Given the description of an element on the screen output the (x, y) to click on. 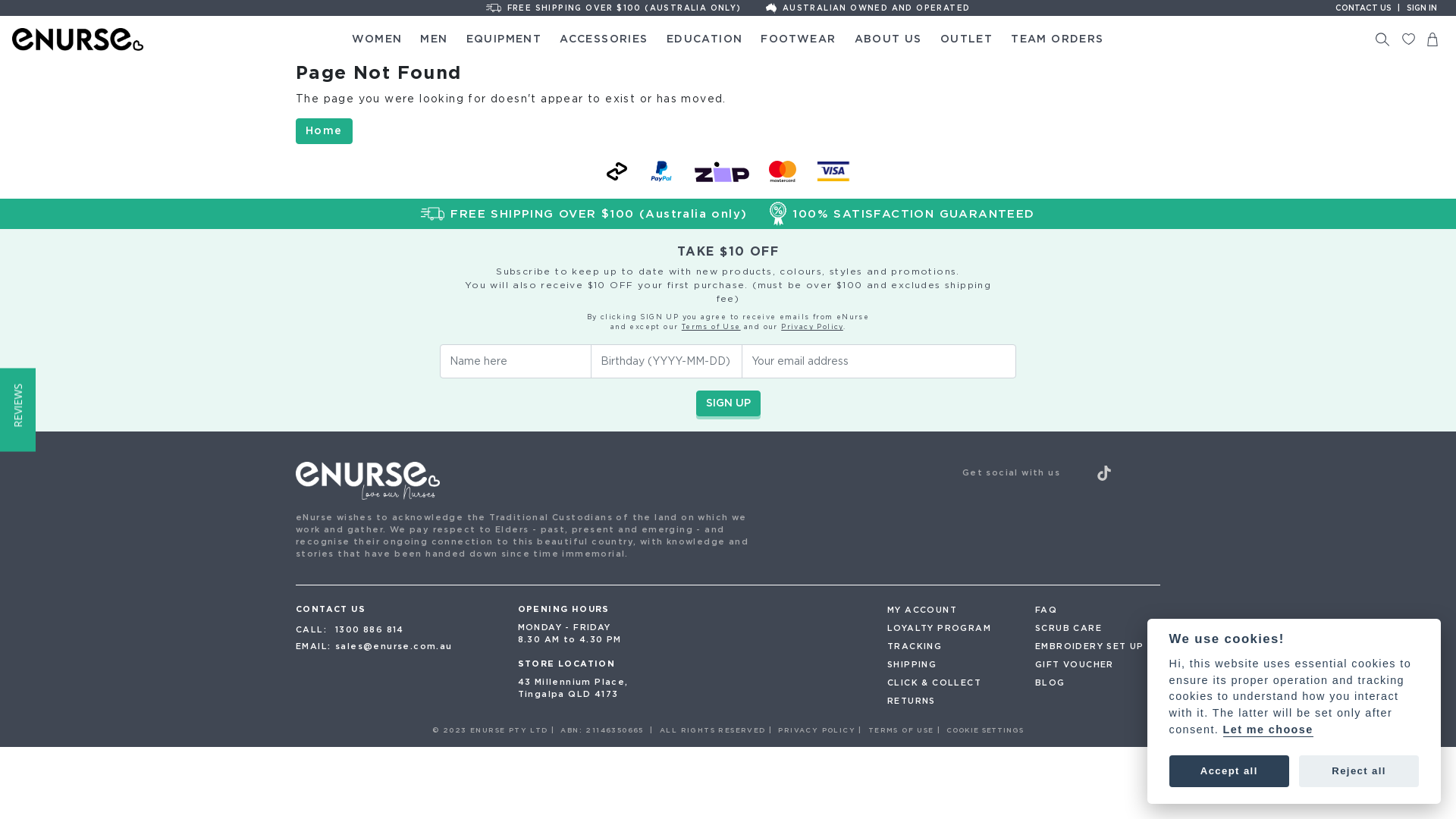
BLOG Element type: text (1097, 682)
0 Element type: text (1432, 39)
Accept all Element type: text (1229, 771)
RETURNS Element type: text (949, 700)
CONTACT US Element type: text (330, 608)
sales@enurse.com.au Element type: text (393, 646)
1300 886 814 Element type: text (369, 629)
Home Element type: text (323, 131)
SHIPPING Element type: text (949, 664)
MEN Element type: text (433, 38)
WOMEN Element type: text (376, 38)
COOKIE SETTINGS Element type: text (984, 729)
SIGN IN Element type: text (1421, 7)
LOYALTY PROGRAM Element type: text (949, 627)
TERMS OF USE Element type: text (901, 729)
EDUCATION Element type: text (704, 38)
SIGN UP Element type: text (728, 403)
Tiktok Element type: text (1103, 472)
FOOTWEAR Element type: text (797, 38)
OUTLET Element type: text (966, 38)
Terms of Use Element type: text (710, 326)
Privacy Policy Element type: text (812, 326)
ACCESSORIES Element type: text (603, 38)
Let me choose Element type: text (1268, 730)
SCRUB CARE Element type: text (1097, 627)
CONTACT US Element type: text (1363, 7)
Reject all Element type: text (1358, 771)
ABOUT US Element type: text (888, 38)
GIFT VOUCHER Element type: text (1097, 664)
EMBROIDERY SET UP Element type: text (1097, 646)
PRIVACY POLICY Element type: text (816, 729)
Wishlist Element type: text (1408, 39)
TEAM ORDERS Element type: text (1056, 38)
TRACKING Element type: text (949, 646)
eNurse Pty Ltd Element type: hover (171, 39)
EQUIPMENT Element type: text (504, 38)
CLICK & COLLECT Element type: text (949, 682)
eNurse Pty Ltd Element type: hover (617, 480)
FAQ Element type: text (1097, 609)
MY ACCOUNT Element type: text (949, 609)
